Given the description of an element on the screen output the (x, y) to click on. 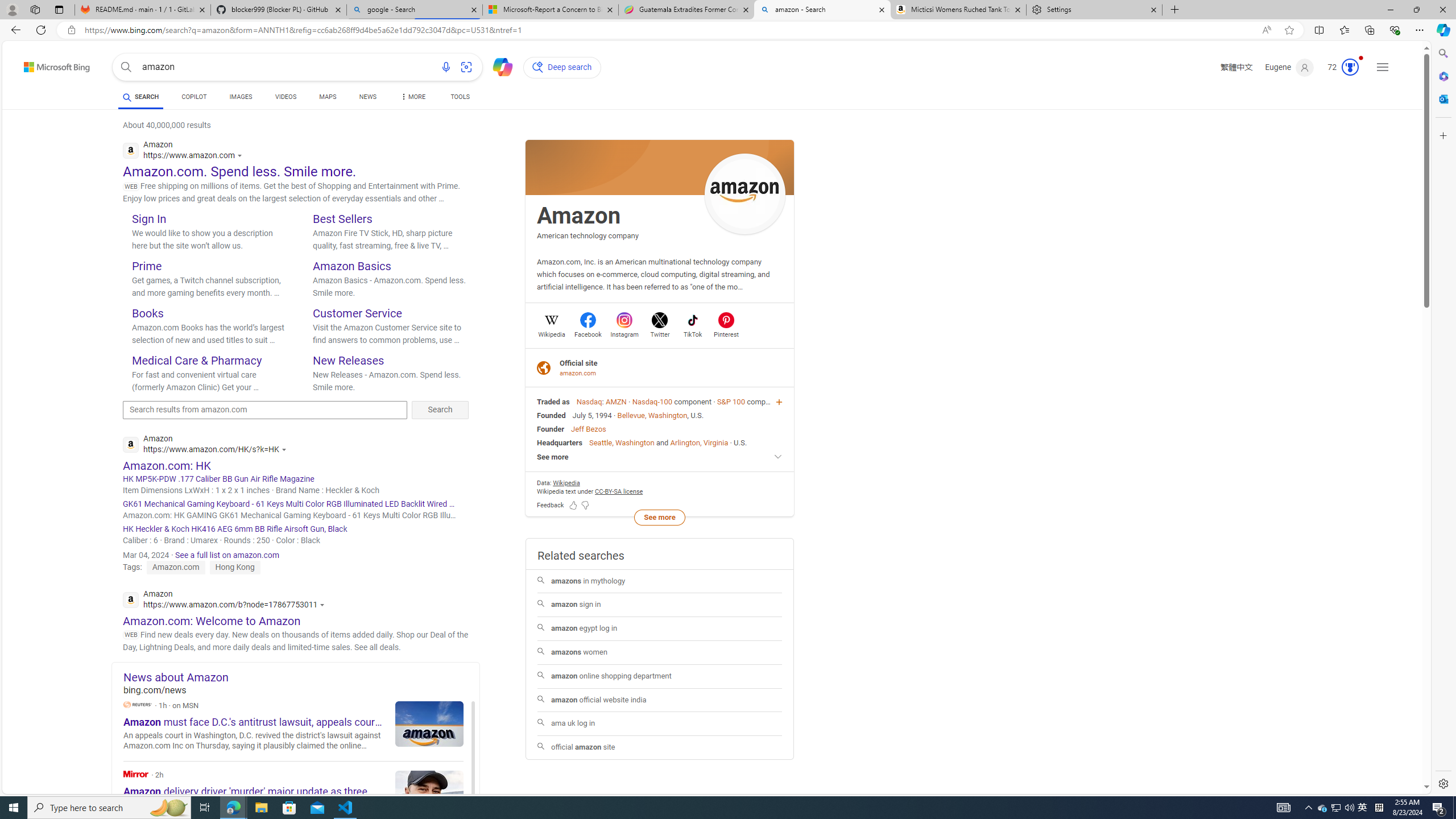
Microsoft Rewards 72 (1339, 67)
amazons women (659, 652)
COPILOT (193, 98)
COPILOT (193, 96)
Search results from amazon.com (264, 409)
See more images of Amazon (745, 194)
Amazon.com: HK (166, 465)
Best Sellers (342, 218)
